Given the description of an element on the screen output the (x, y) to click on. 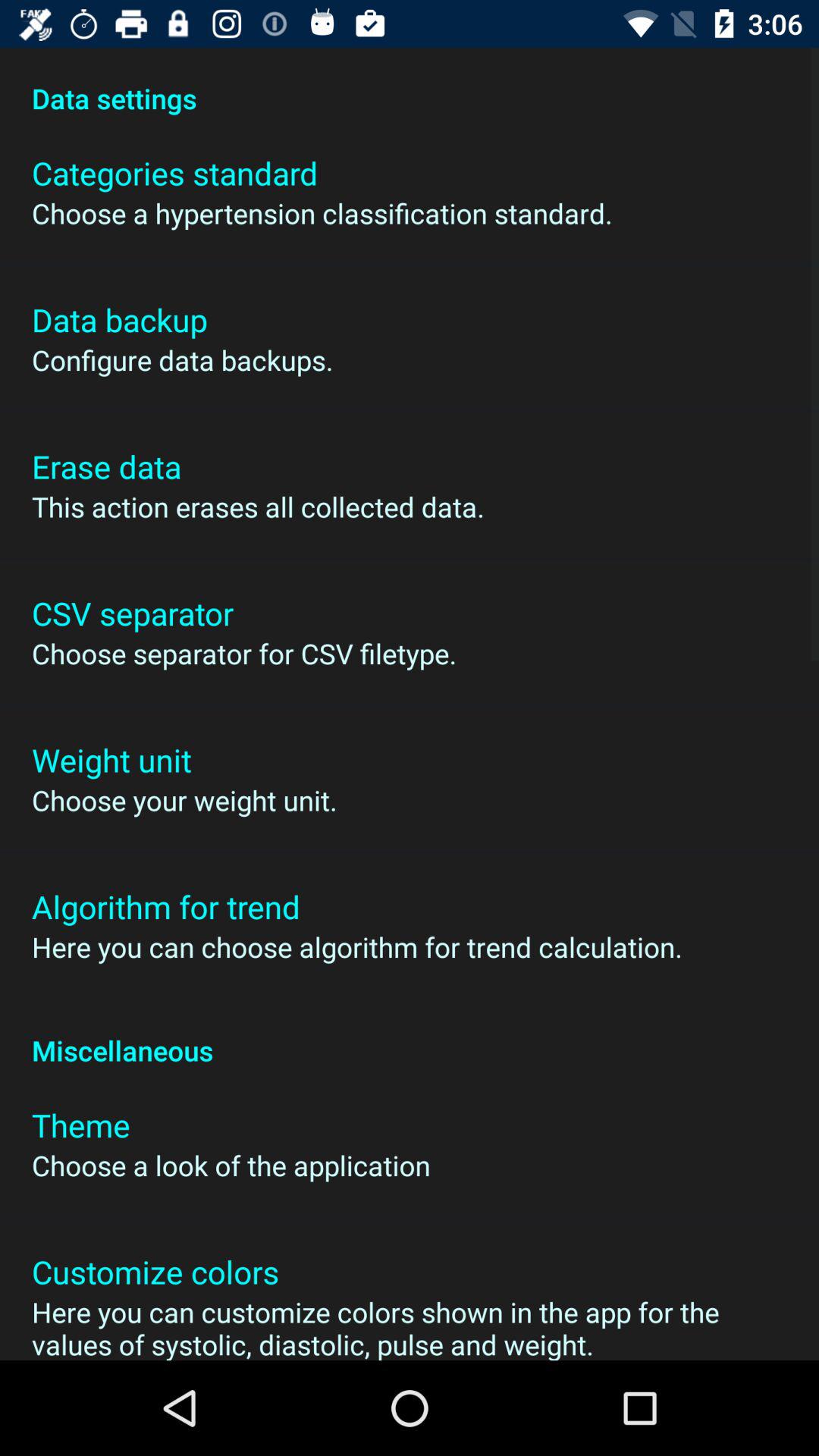
swipe until data backup app (119, 319)
